Given the description of an element on the screen output the (x, y) to click on. 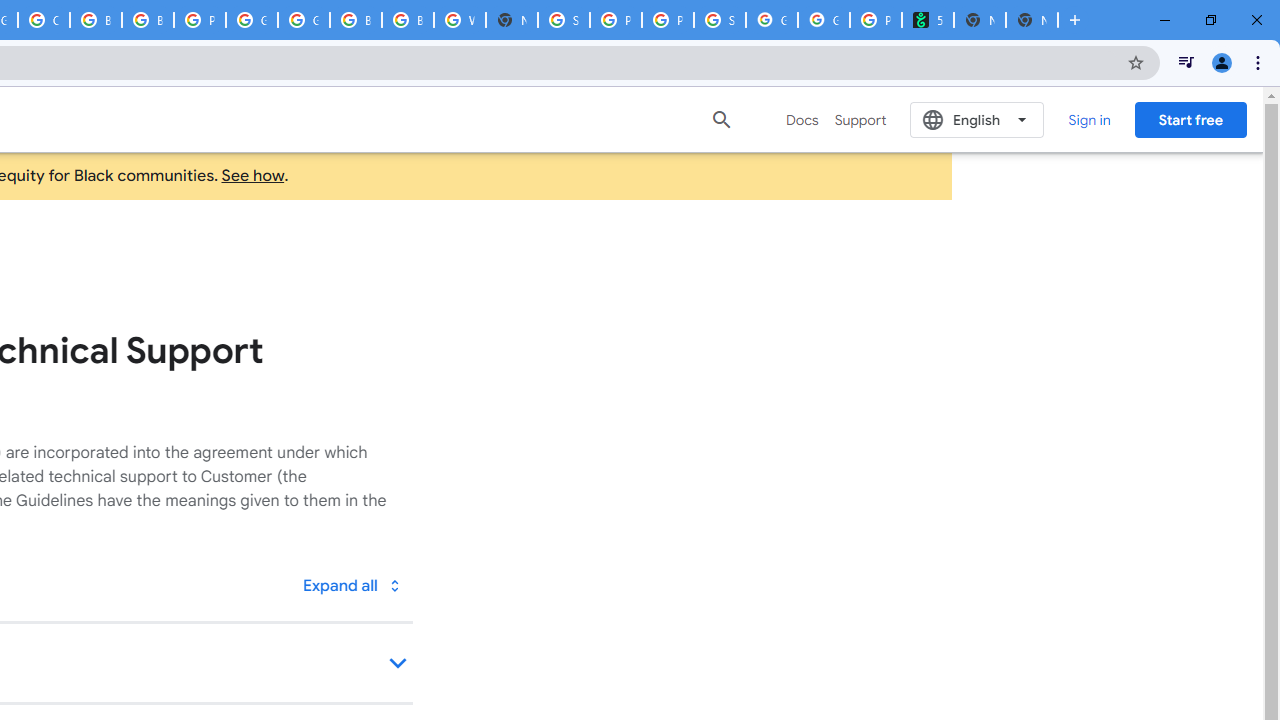
New Tab (511, 20)
Docs (802, 119)
Support (860, 119)
See how (253, 175)
Toggle all (351, 584)
